Given the description of an element on the screen output the (x, y) to click on. 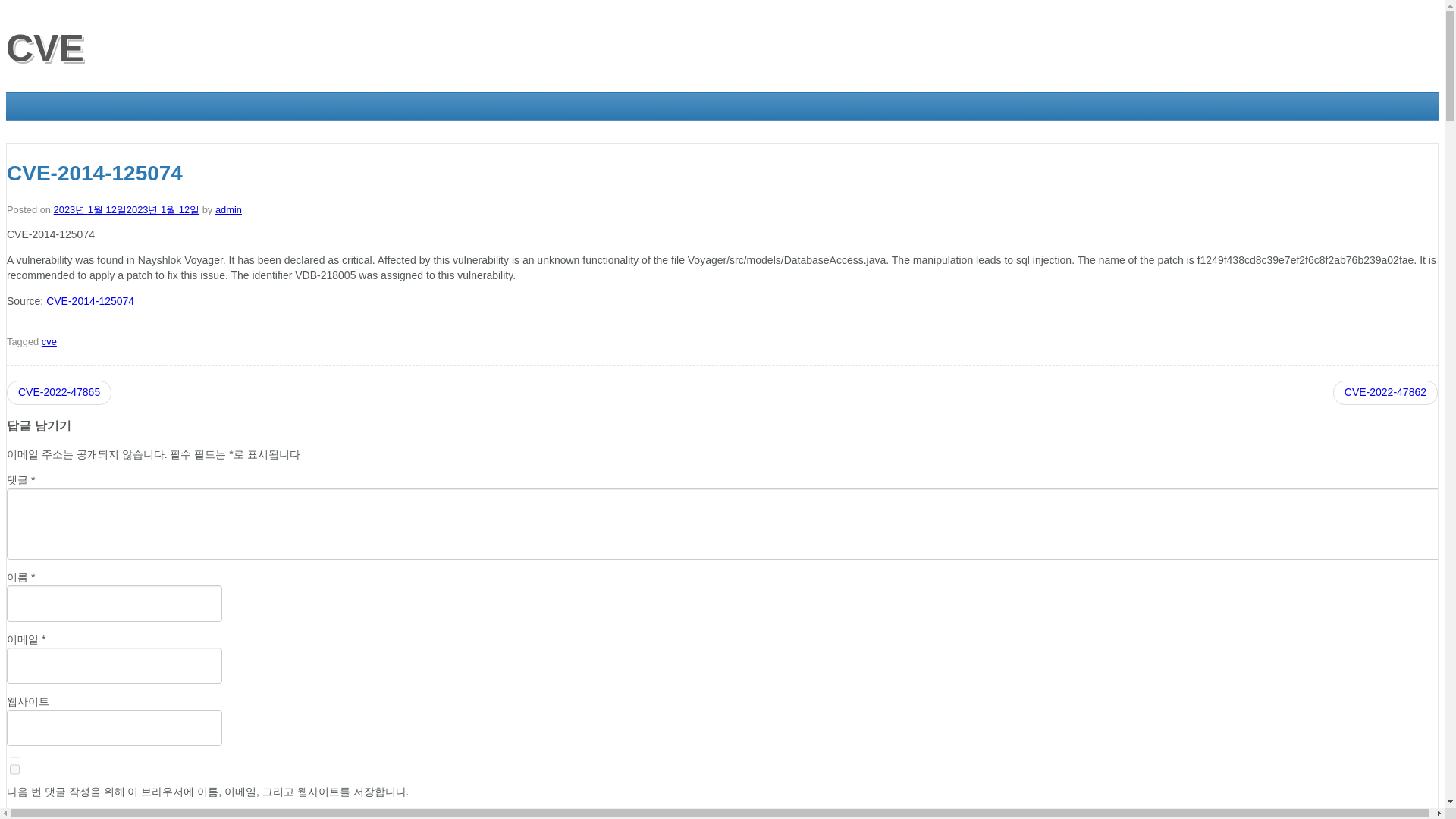
CVE-2022-47865 (58, 391)
cve (49, 341)
CVE (44, 48)
CVE-2014-125074 (89, 300)
CVE-2022-47862 (1384, 391)
admin (228, 209)
